Given the description of an element on the screen output the (x, y) to click on. 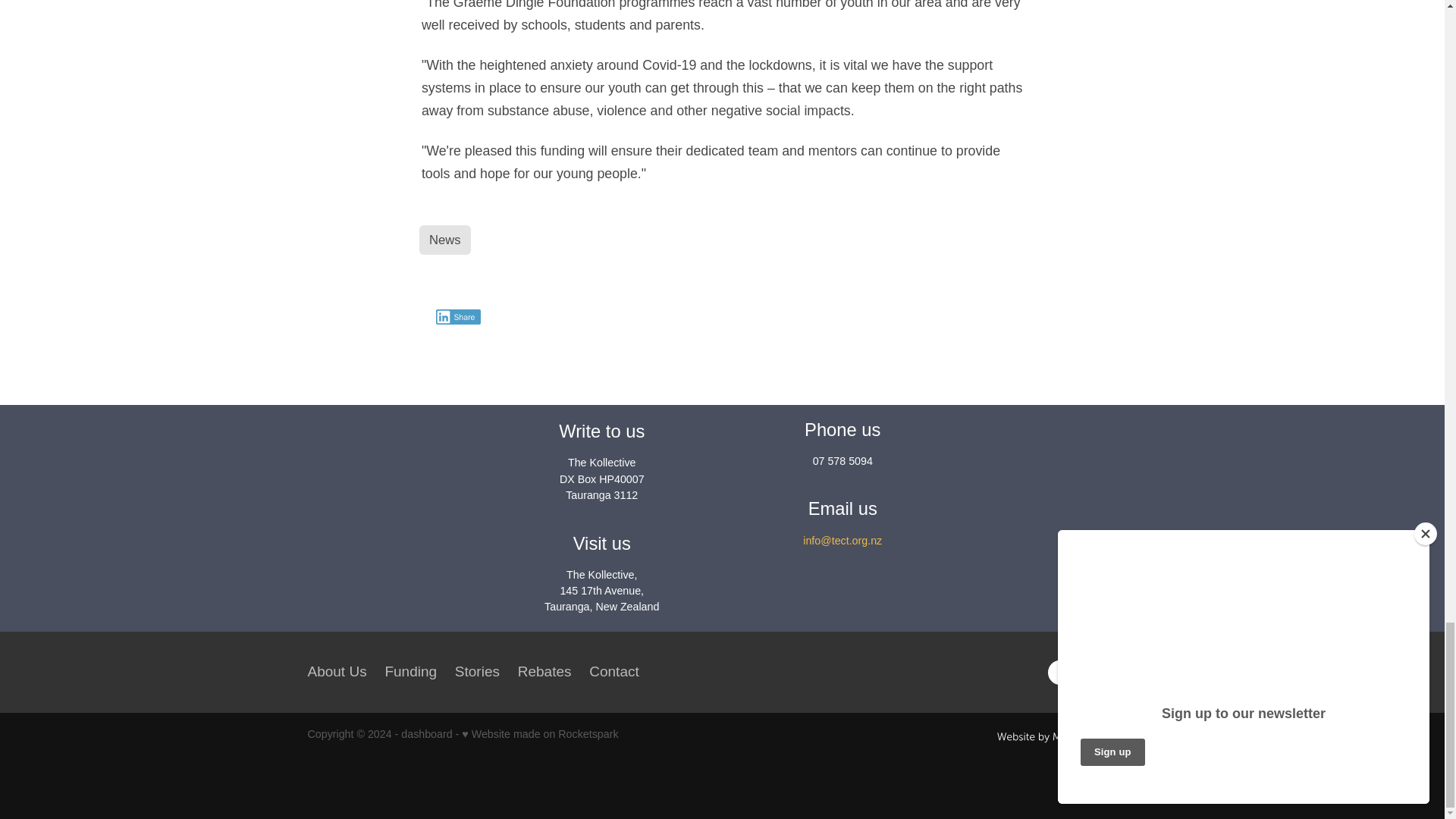
A link to this website's Facebook. (1060, 672)
A link to this website's LinkedIn. (1119, 672)
A link to this website's Instagram. (1089, 672)
